Given the description of an element on the screen output the (x, y) to click on. 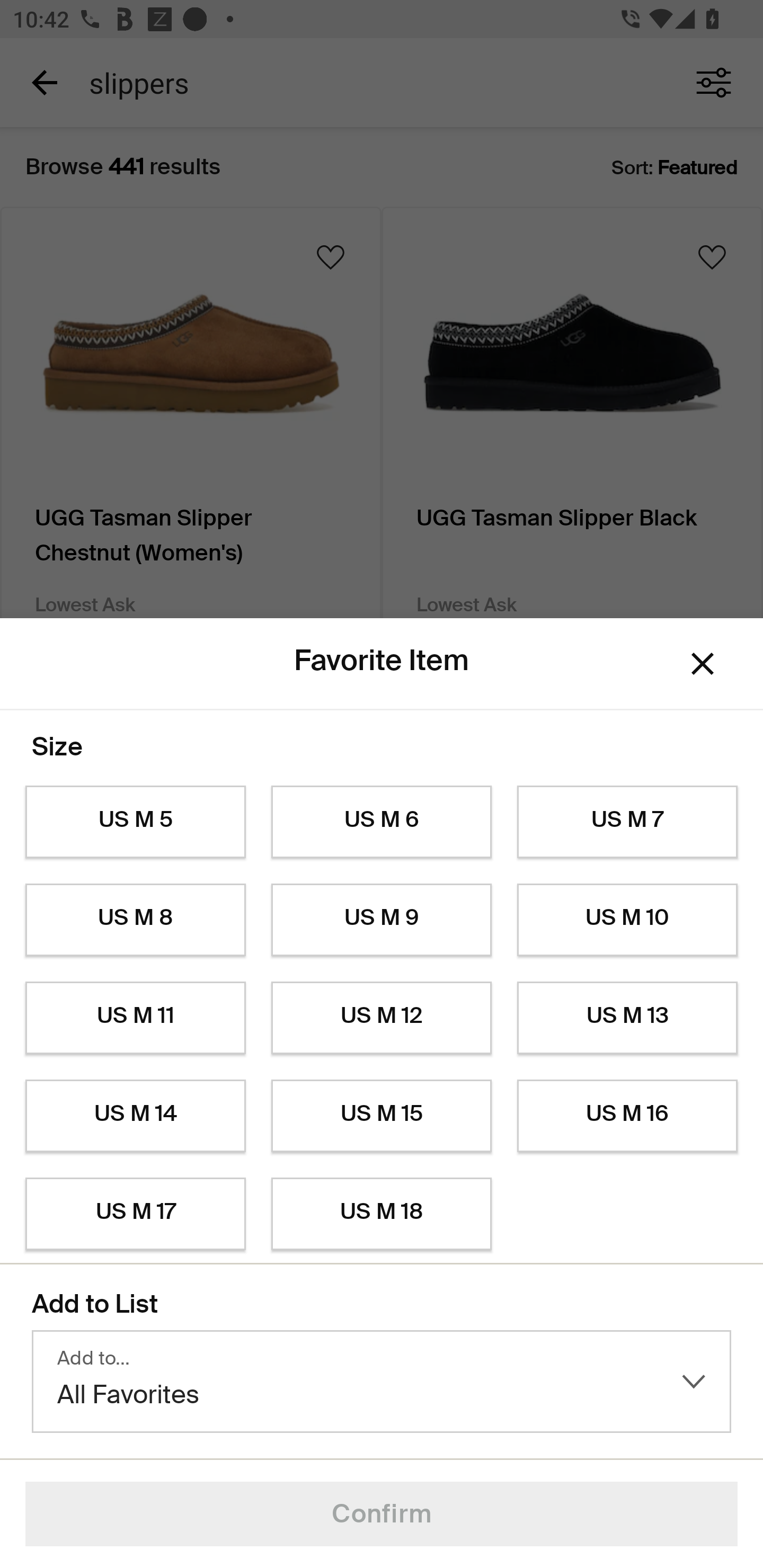
Dismiss (702, 663)
US M 5 (135, 822)
US M 6 (381, 822)
US M 7 (627, 822)
US M 8 (135, 919)
US M 9 (381, 919)
US M 10 (627, 919)
US M 11 (135, 1018)
US M 12 (381, 1018)
US M 13 (627, 1018)
US M 14 (135, 1116)
US M 15 (381, 1116)
US M 16 (627, 1116)
US M 17 (135, 1214)
US M 18 (381, 1214)
Add to… All Favorites (381, 1381)
Confirm (381, 1513)
